Given the description of an element on the screen output the (x, y) to click on. 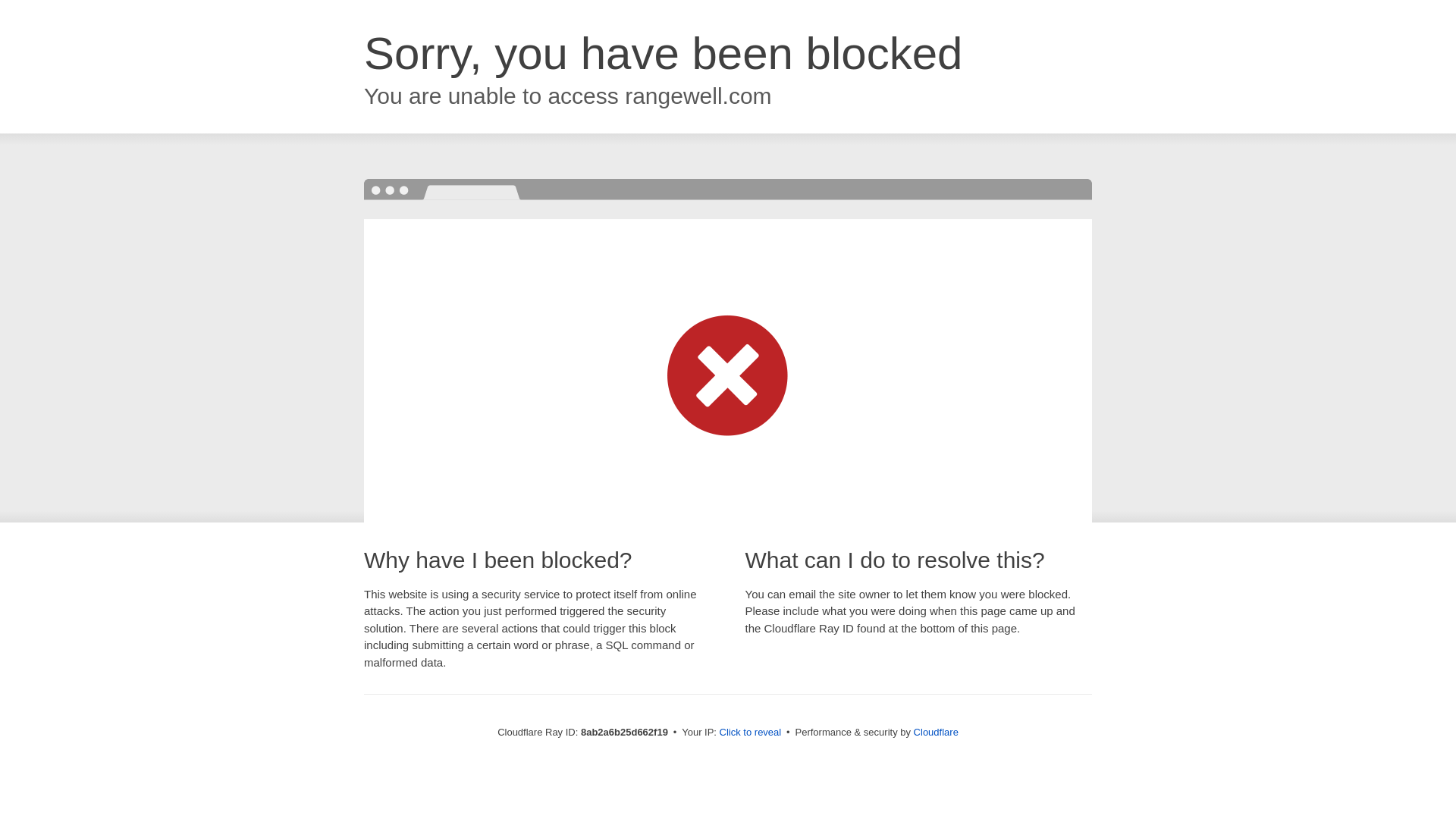
Click to reveal (750, 732)
Cloudflare (936, 731)
